Given the description of an element on the screen output the (x, y) to click on. 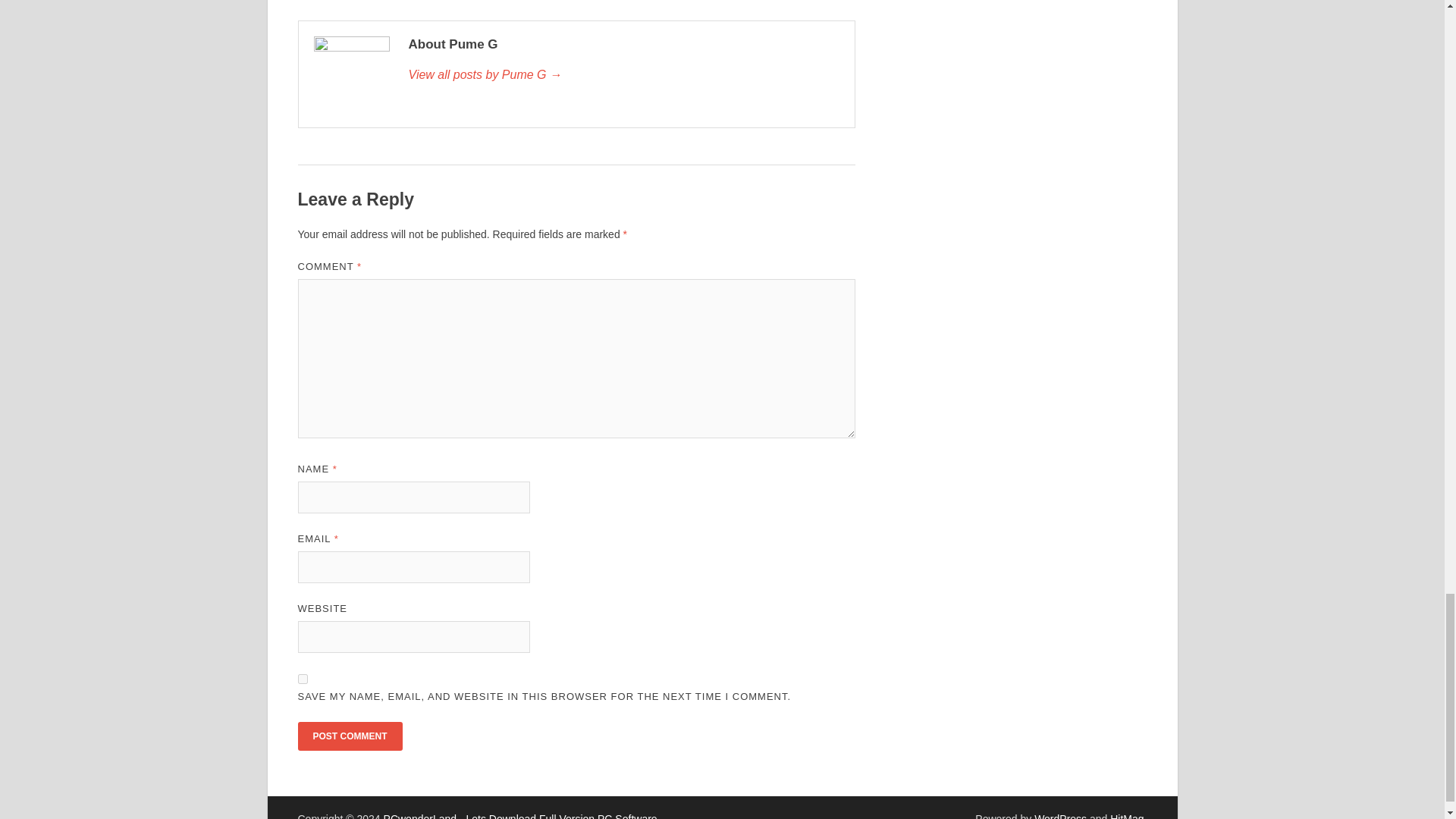
yes (302, 678)
Post Comment (349, 736)
Pume G (622, 75)
Post Comment (349, 736)
